Given the description of an element on the screen output the (x, y) to click on. 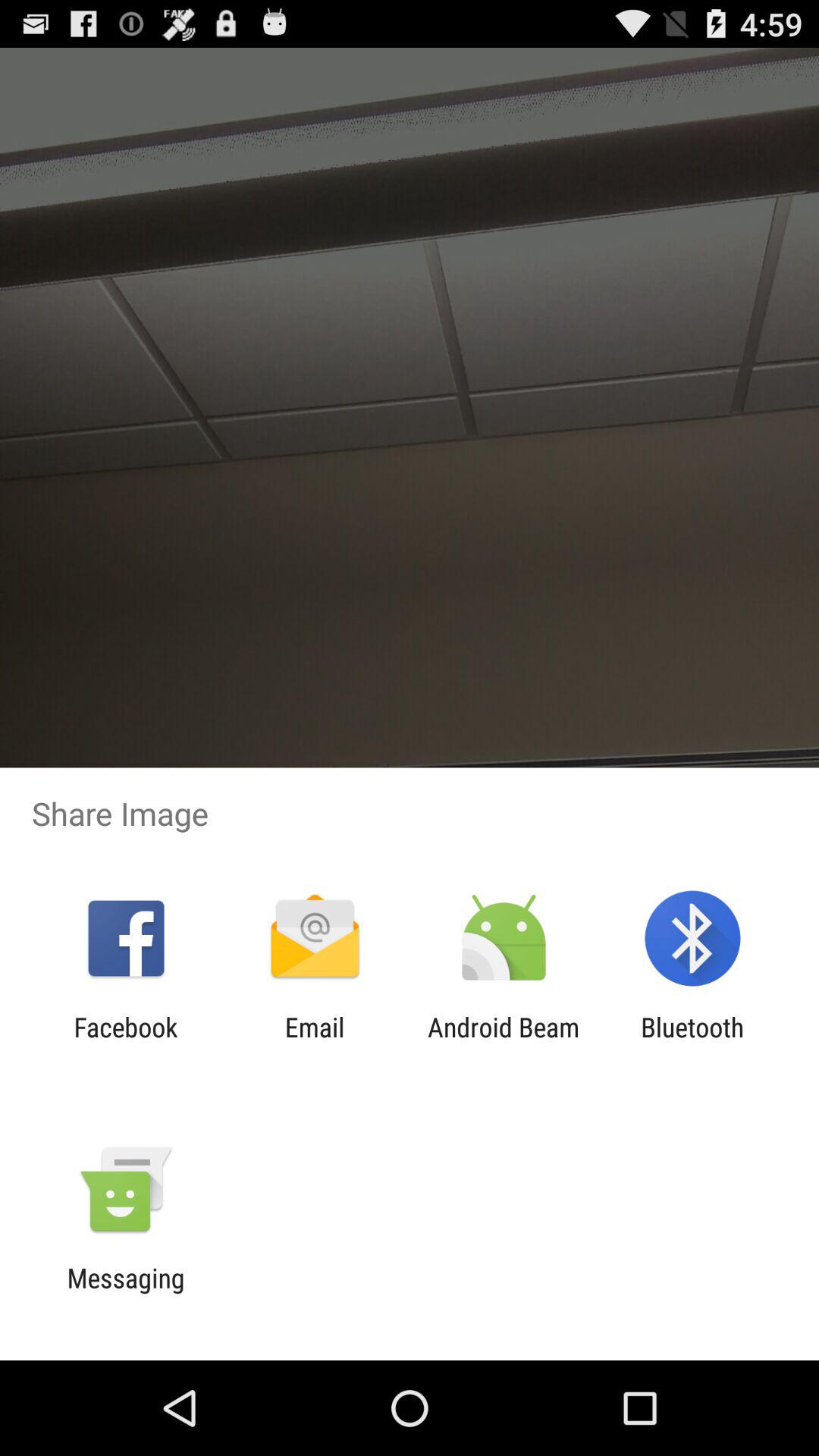
scroll to the messaging (125, 1293)
